Given the description of an element on the screen output the (x, y) to click on. 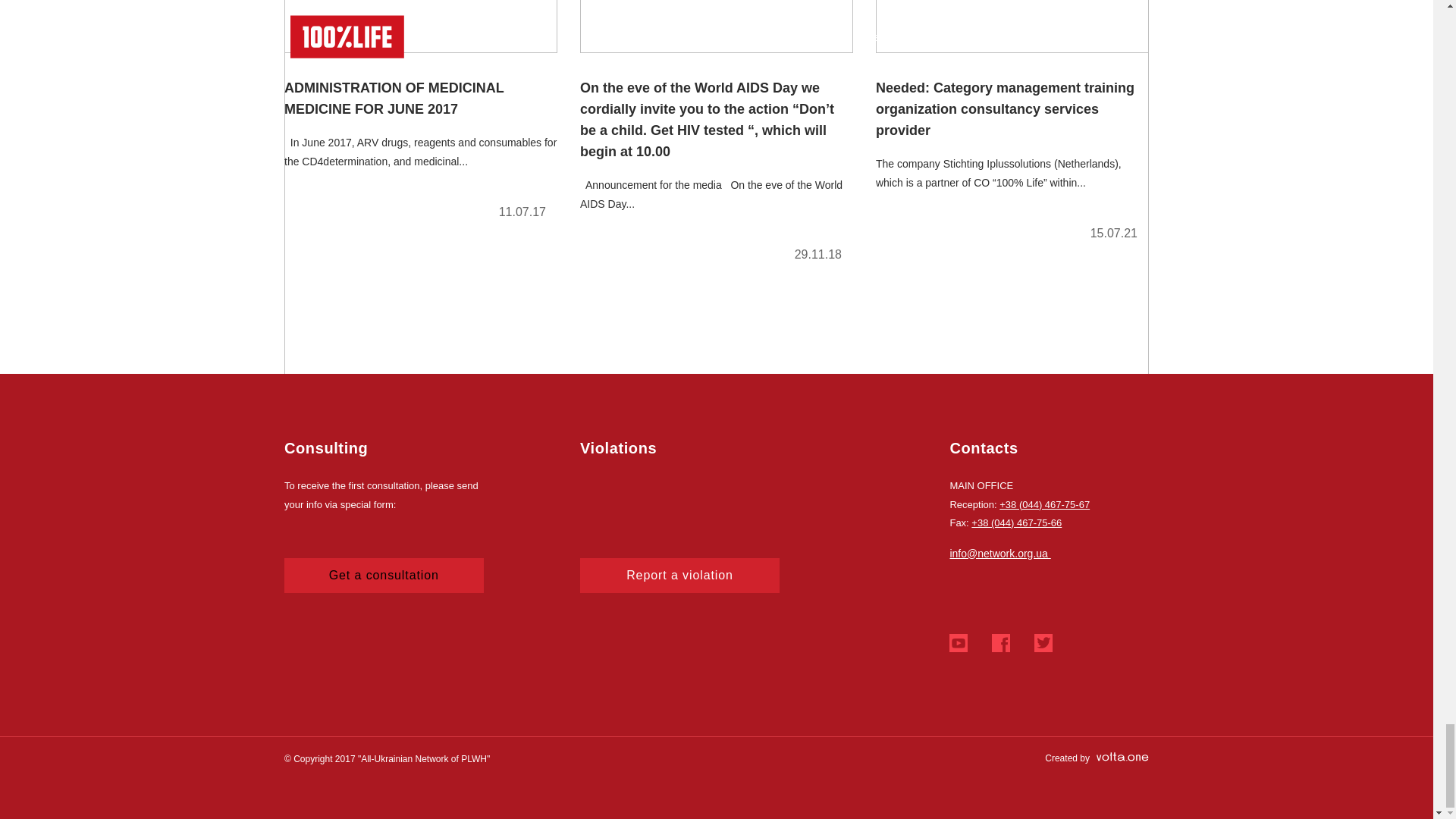
Report a violation (678, 574)
Created by (1096, 757)
Get a consultation (383, 574)
ADMINISTRATION OF MEDICINAL MEDICINE FOR JUNE 2017 (420, 116)
Report a violation (678, 574)
Get a consultation (383, 574)
